Given the description of an element on the screen output the (x, y) to click on. 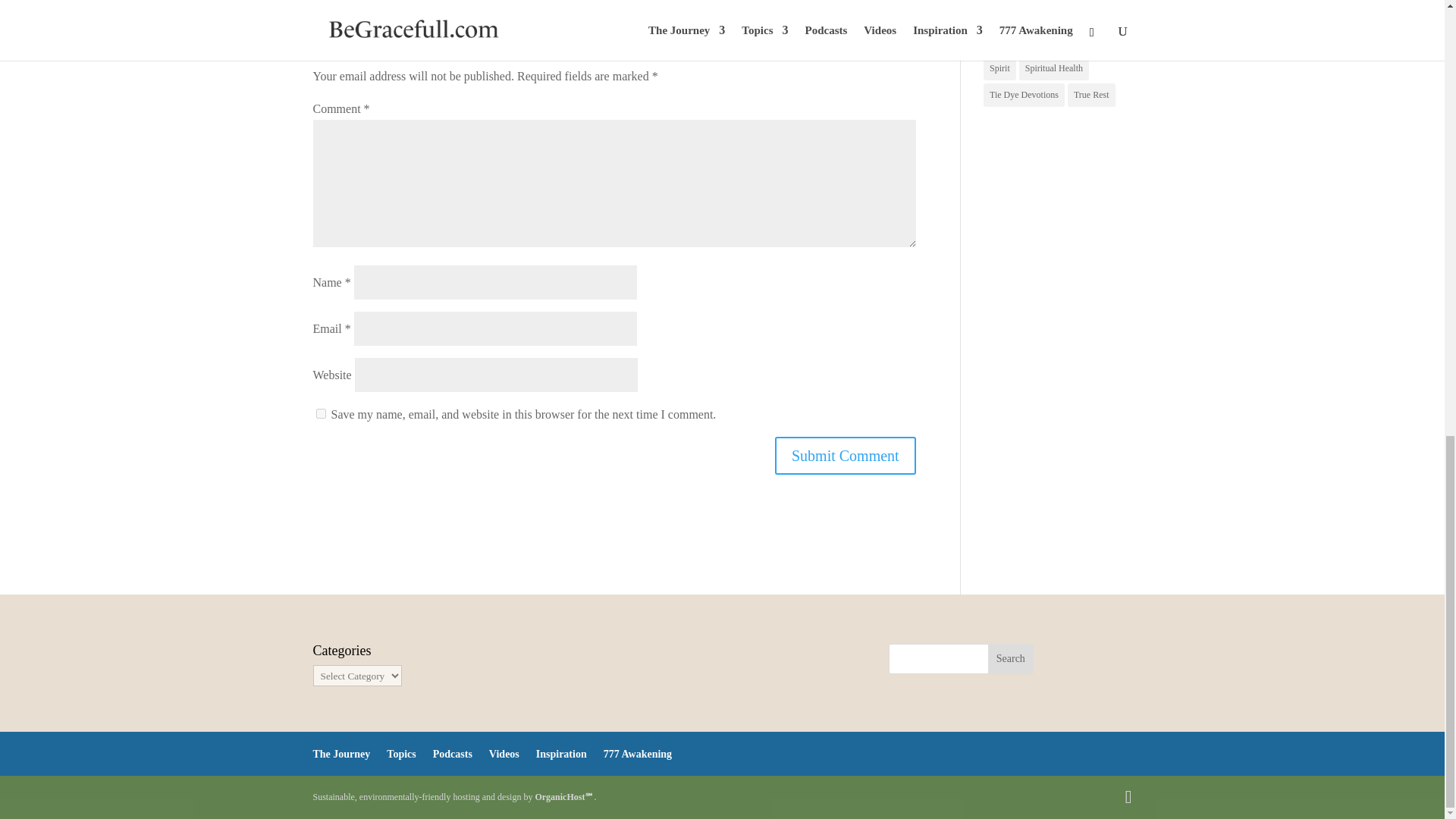
Search (1010, 658)
Submit Comment (844, 455)
Submit Comment (844, 455)
yes (319, 413)
